Given the description of an element on the screen output the (x, y) to click on. 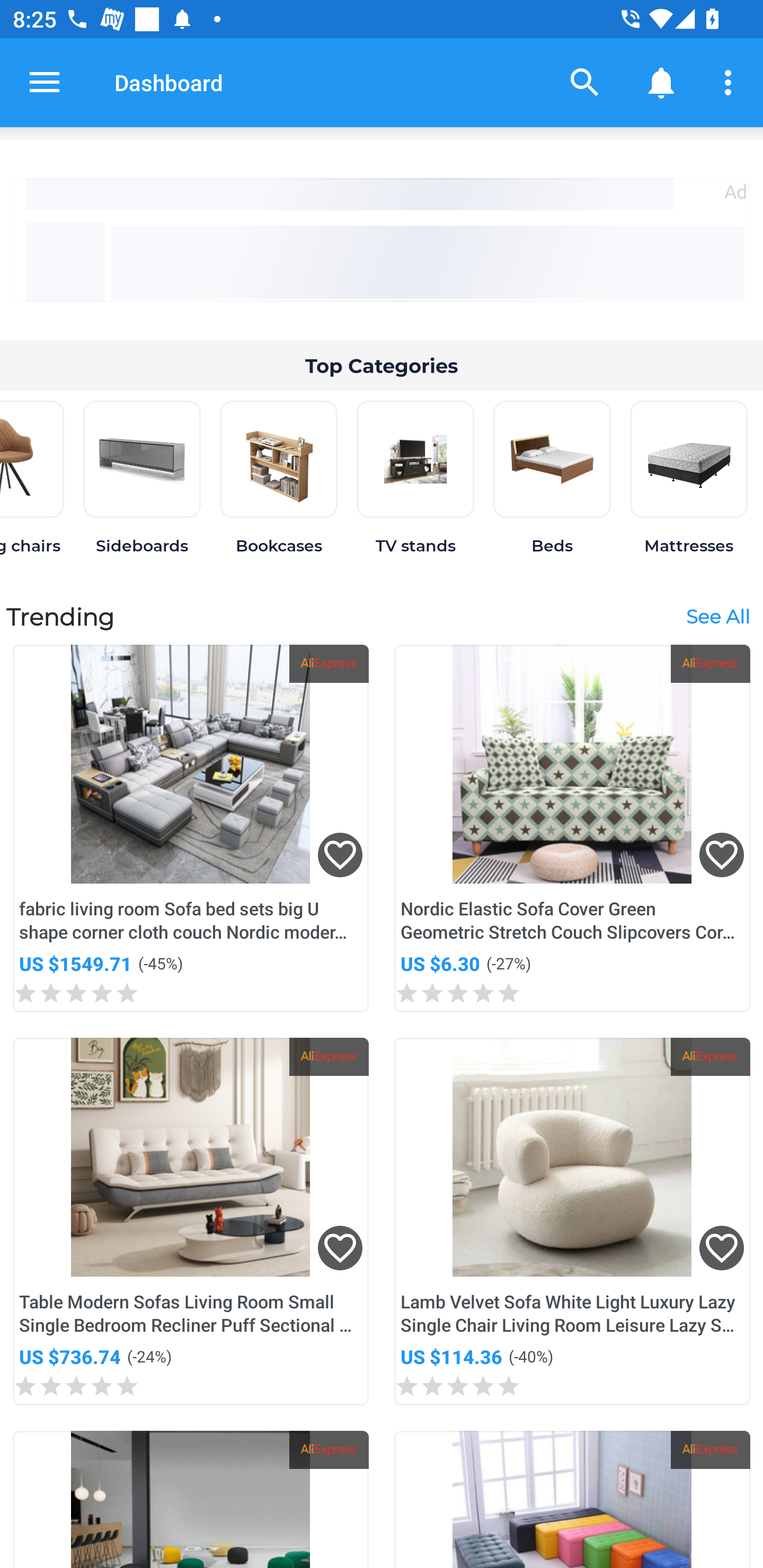
Open navigation drawer (44, 82)
Search (585, 81)
More options (731, 81)
See All (717, 615)
